Given the description of an element on the screen output the (x, y) to click on. 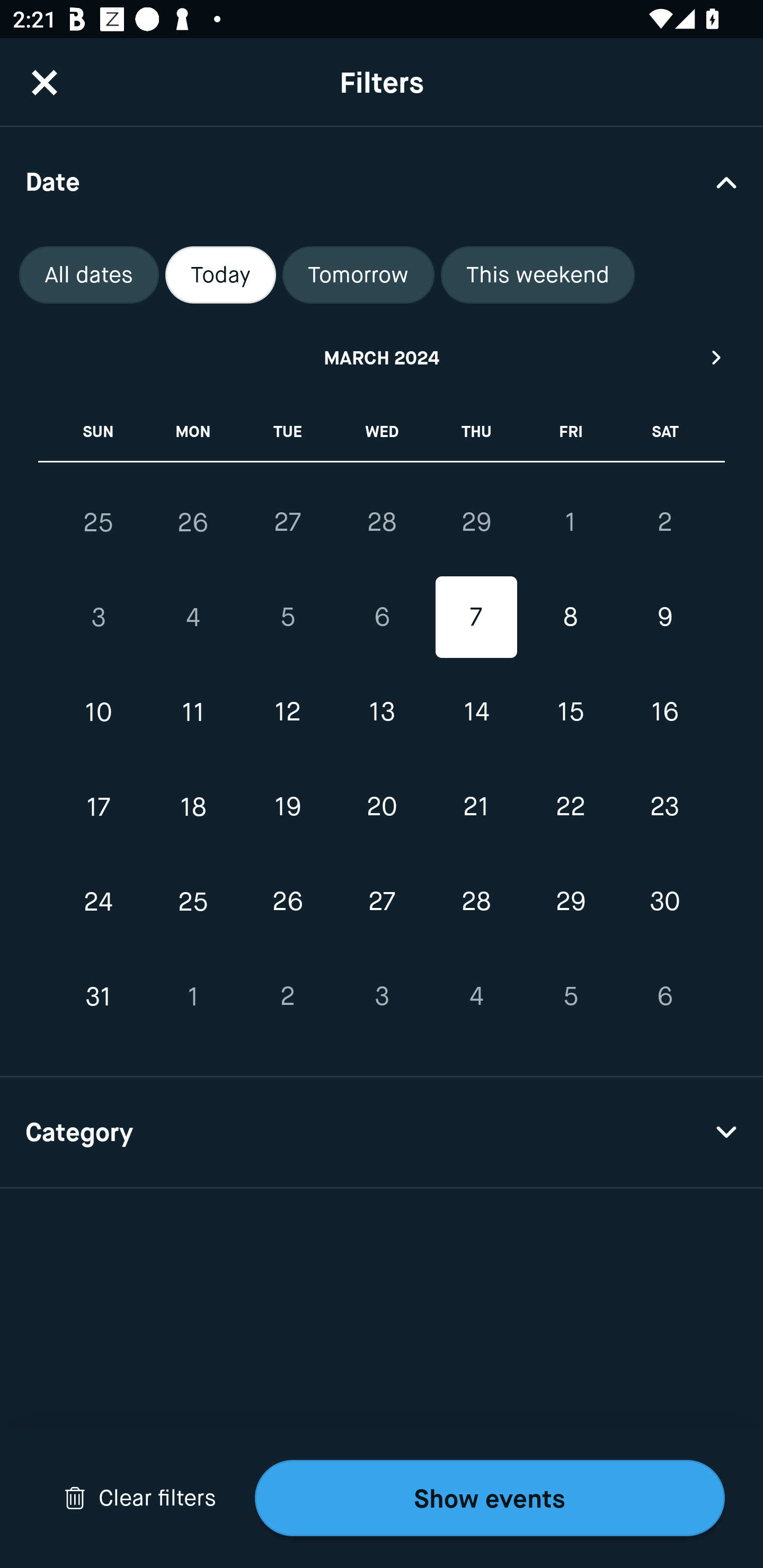
CloseButton (44, 82)
Date Drop Down Arrow (381, 181)
All dates (88, 274)
Today (220, 274)
Tomorrow (358, 274)
This weekend (537, 274)
Next (717, 357)
25 (98, 522)
26 (192, 522)
27 (287, 522)
28 (381, 522)
29 (475, 522)
1 (570, 522)
2 (664, 522)
3 (98, 617)
4 (192, 617)
5 (287, 617)
6 (381, 617)
7 (475, 617)
8 (570, 617)
9 (664, 617)
10 (98, 711)
11 (192, 711)
12 (287, 711)
13 (381, 711)
14 (475, 711)
15 (570, 711)
16 (664, 711)
17 (98, 806)
18 (192, 806)
19 (287, 806)
20 (381, 806)
21 (475, 806)
22 (570, 806)
23 (664, 806)
24 (98, 901)
25 (192, 901)
26 (287, 901)
27 (381, 901)
28 (475, 901)
29 (570, 901)
30 (664, 901)
31 (98, 996)
1 (192, 996)
2 (287, 996)
3 (381, 996)
4 (475, 996)
5 (570, 996)
6 (664, 996)
Category Drop Down Arrow (381, 1132)
Drop Down Arrow Clear filters (139, 1497)
Show events (489, 1497)
